Given the description of an element on the screen output the (x, y) to click on. 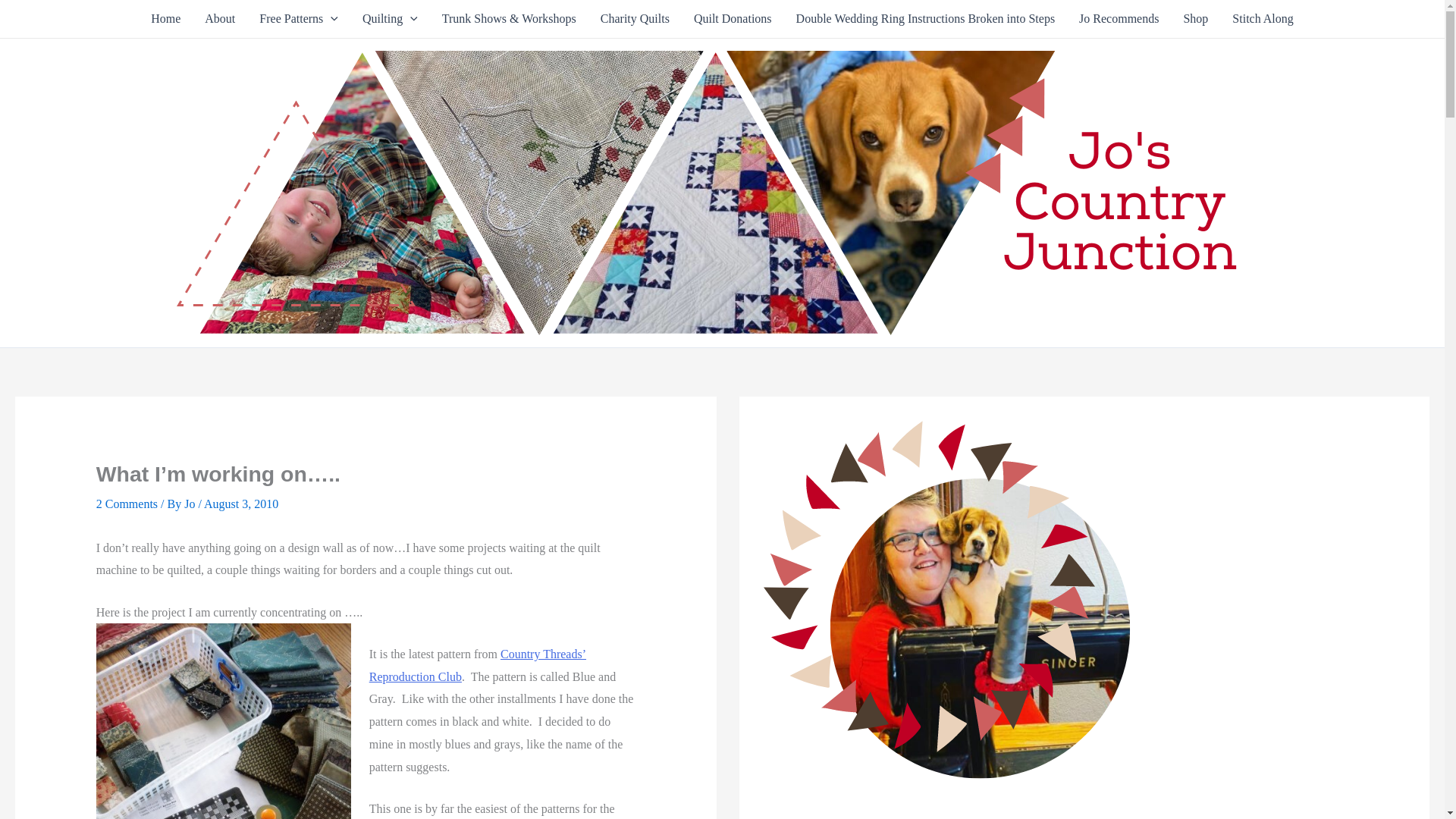
Quilts of 2012 (389, 18)
Free Patterns (298, 18)
About (219, 18)
Quilting (389, 18)
Charity Quilts (634, 18)
Home (165, 18)
WhatWorkingOn (223, 721)
Quilt Donations (732, 18)
View all posts by Jo (191, 503)
